Given the description of an element on the screen output the (x, y) to click on. 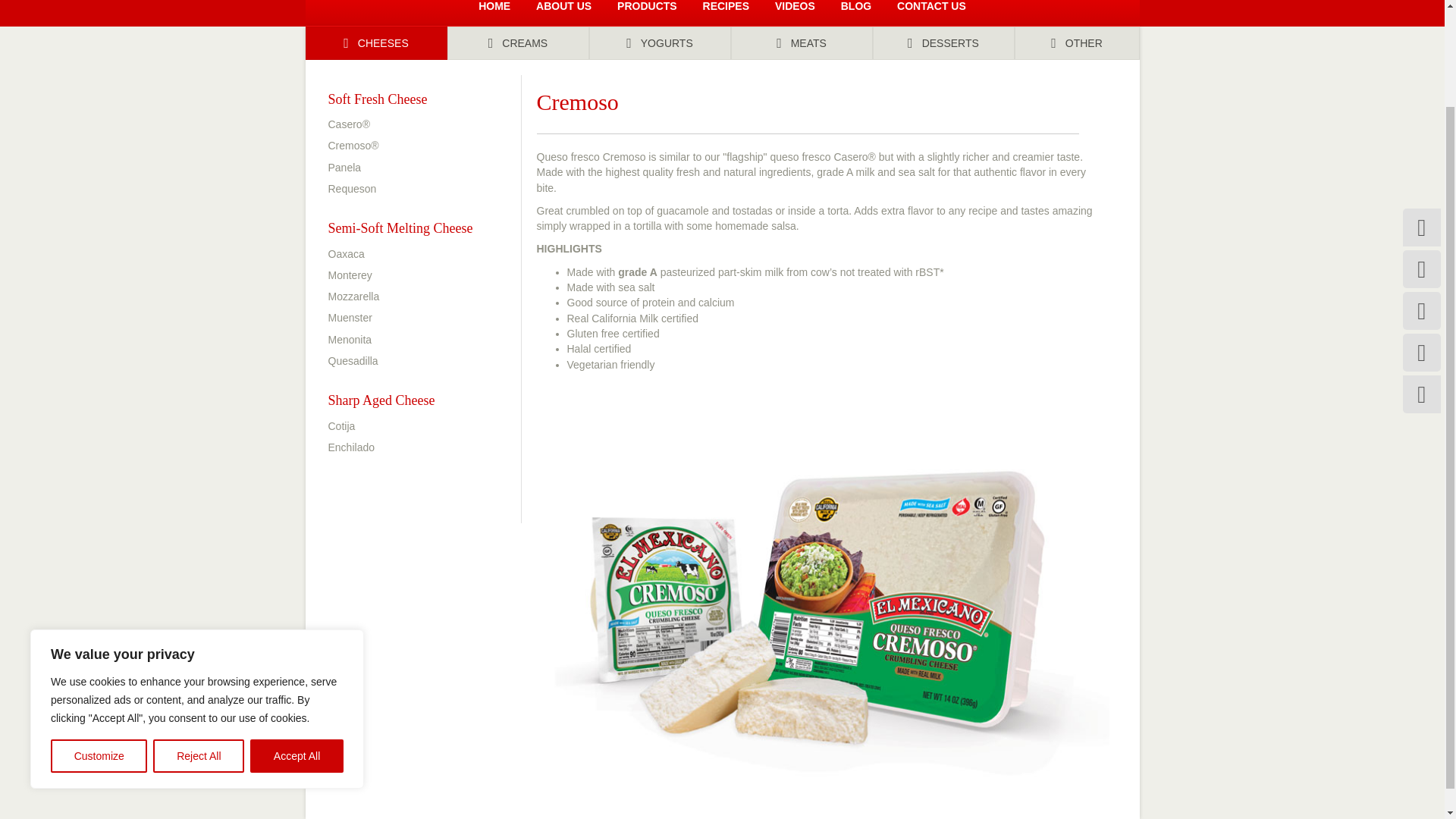
ABOUT US (563, 12)
MEATS (801, 42)
DESSERTS (942, 42)
Panela (344, 167)
HOME (494, 12)
VIDEOS (794, 12)
BLOG (855, 12)
YOGURTS (659, 42)
CHEESES (375, 42)
Reject All (198, 640)
